Given the description of an element on the screen output the (x, y) to click on. 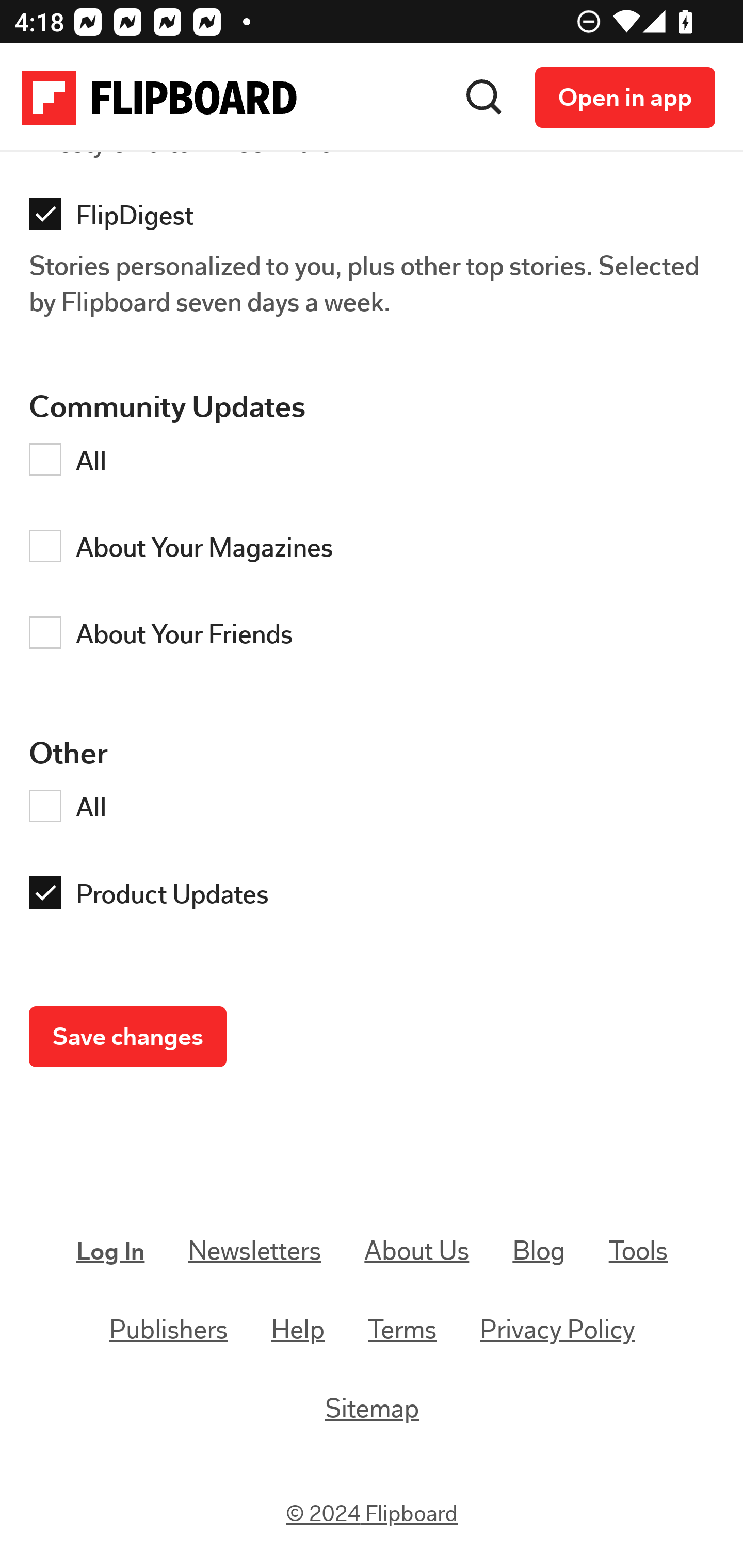
Open in app (625, 97)
Search (484, 97)
checkmark FlipDigest (376, 219)
All (376, 464)
About Your Magazines (376, 550)
About Your Friends (376, 637)
All (376, 810)
checkmark Product Updates (376, 898)
Save changes (127, 1038)
Newsletters (255, 1251)
About Us (416, 1251)
Blog (538, 1251)
Tools (638, 1251)
Log In (110, 1252)
Publishers (168, 1331)
Help (298, 1331)
Terms (401, 1331)
Privacy Policy (556, 1331)
Sitemap (371, 1408)
© 2024Flipboard ©  2024 Flipboard (372, 1514)
